Given the description of an element on the screen output the (x, y) to click on. 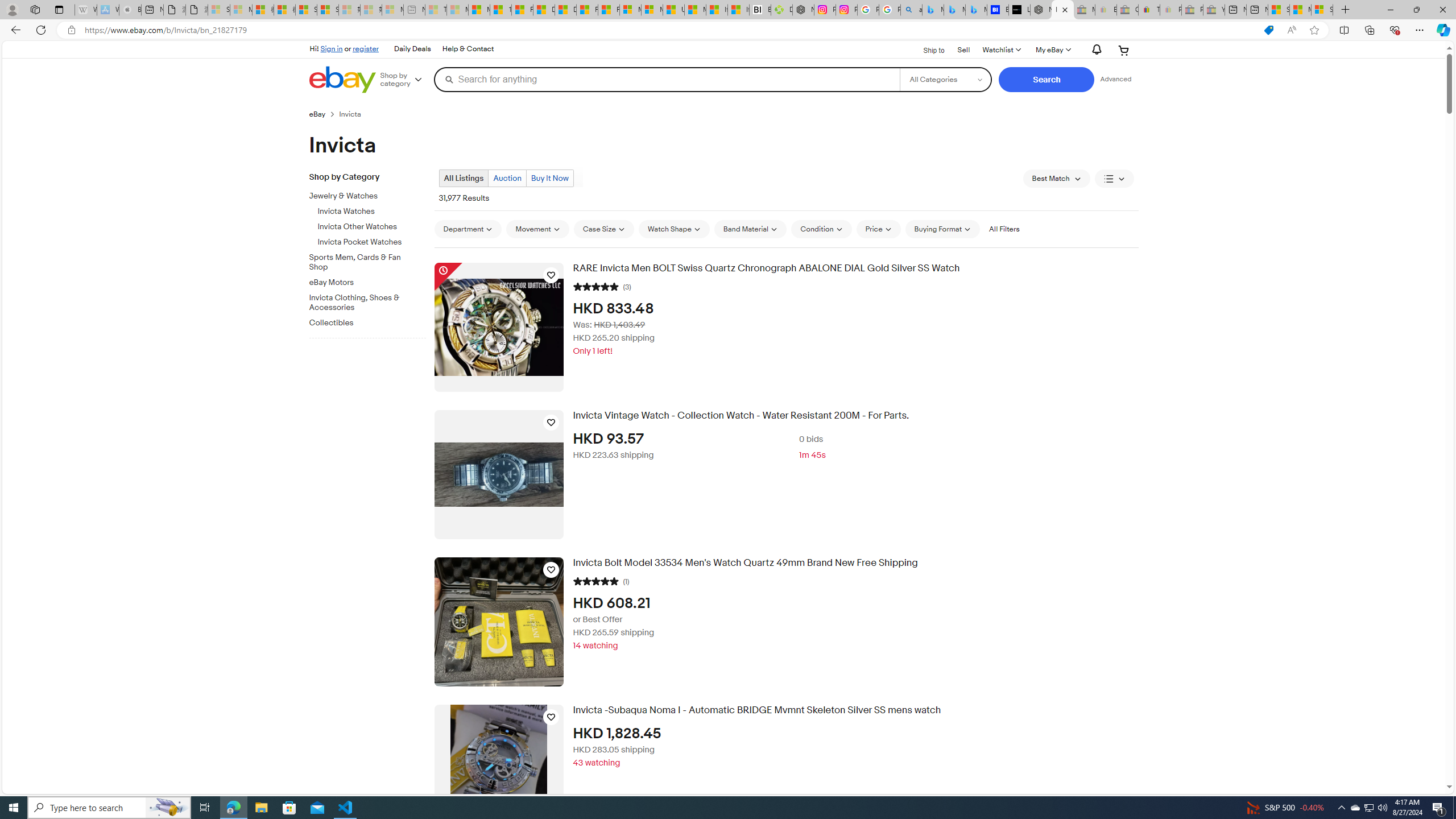
Movement (537, 229)
All Listings Current view (464, 178)
Daily Deals (411, 49)
Food and Drink - MSN (522, 9)
Jewelry & Watches (362, 196)
Sports Mem, Cards & Fan Shop (371, 260)
Buy It Now (549, 177)
Expand Cart (1123, 49)
Press Room - eBay Inc. - Sleeping (1192, 9)
Price (878, 229)
Help & Contact (467, 49)
